Given the description of an element on the screen output the (x, y) to click on. 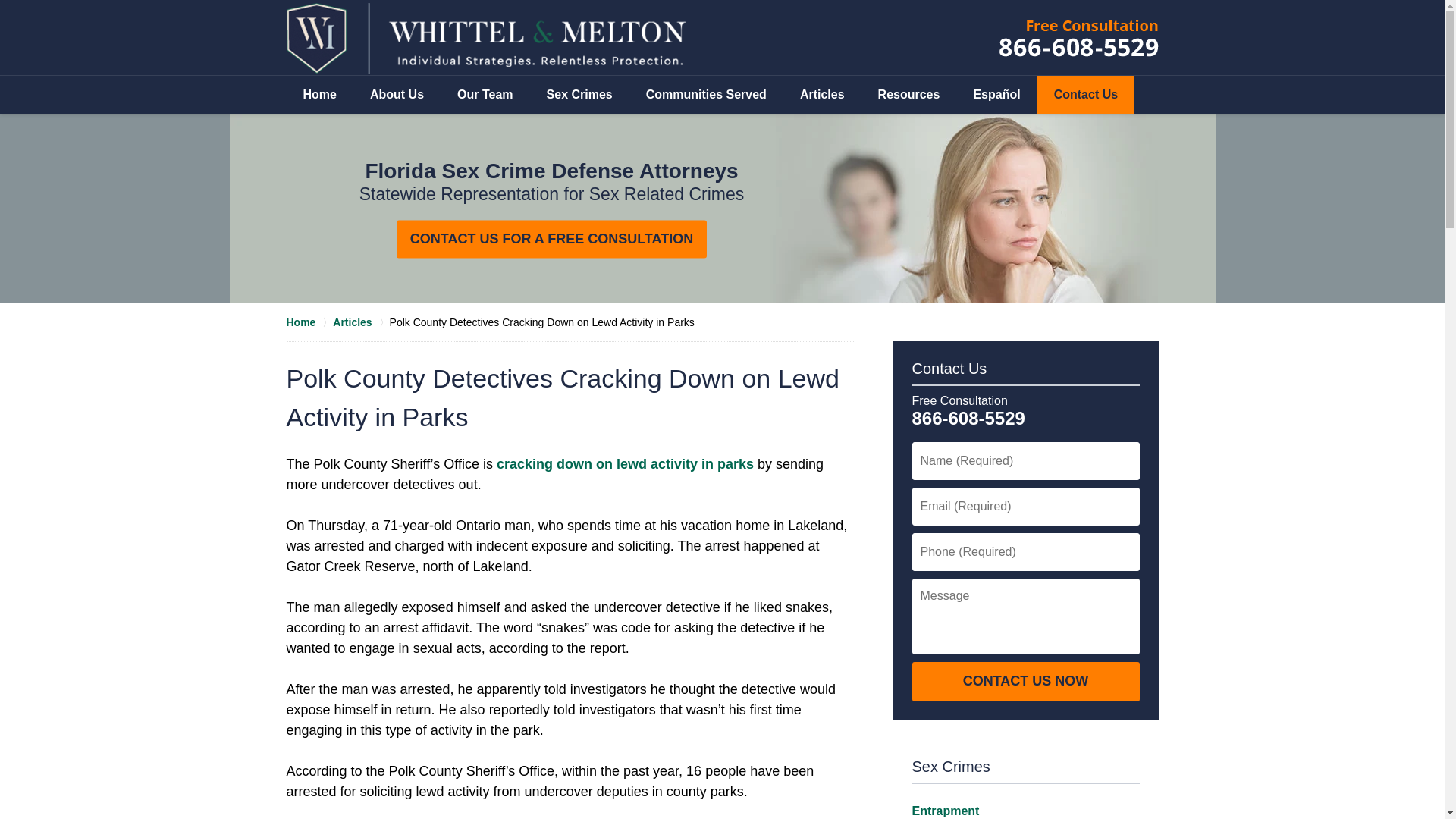
CONTACT US FOR A FREE CONSULTATION (551, 239)
Back to Home (485, 38)
Entrapment (944, 810)
Our Team (485, 94)
CONTACT US NOW (1024, 681)
Articles (822, 94)
Communities Served (705, 94)
Resources (908, 94)
Articles (360, 321)
cracking down on lewd activity in parks (625, 463)
Sex Crimes (950, 766)
About Us (397, 94)
Sex Crimes (578, 94)
Home (319, 94)
Contact Us (949, 368)
